Given the description of an element on the screen output the (x, y) to click on. 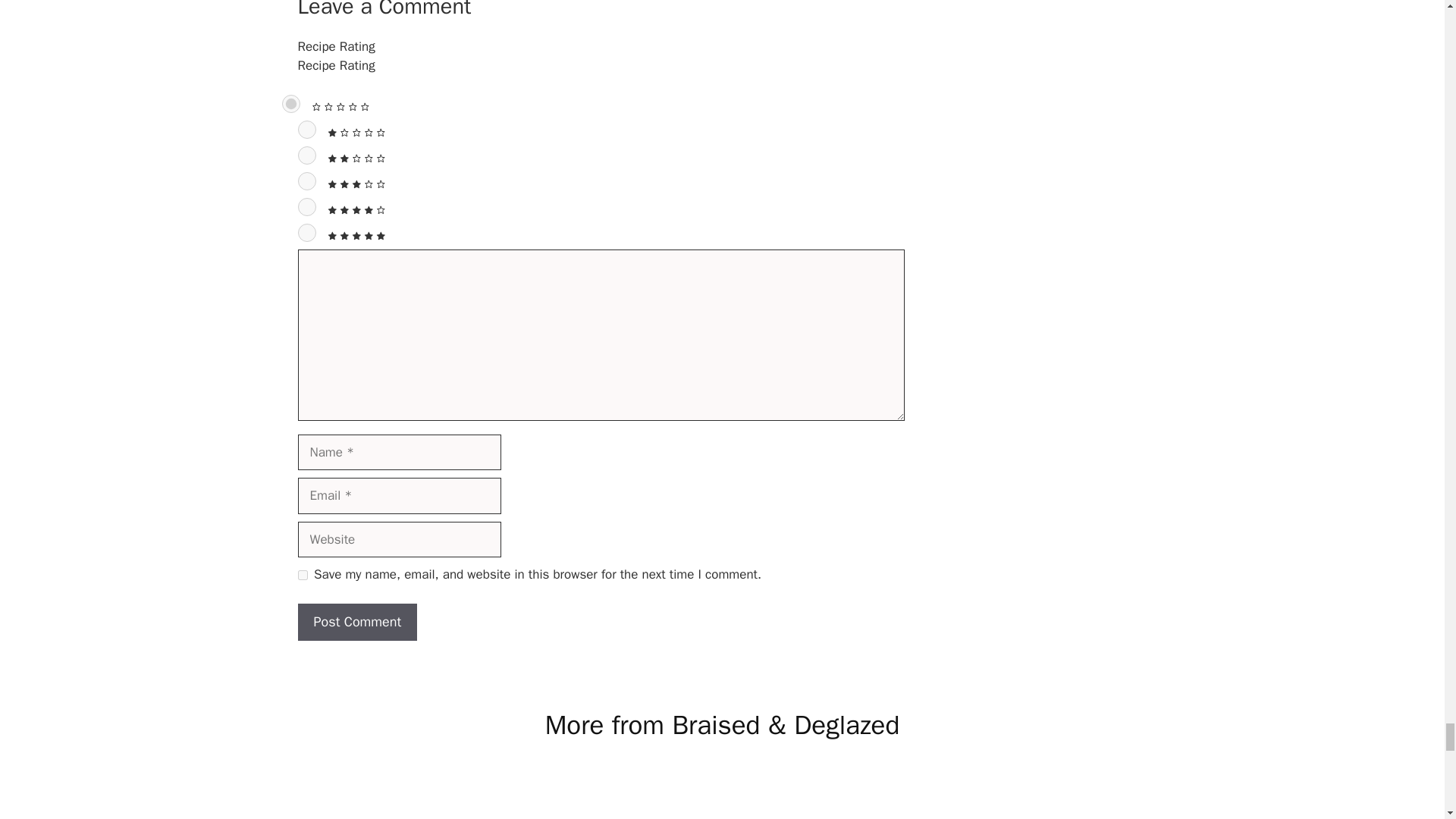
Post Comment (356, 621)
5 (306, 232)
2 (306, 155)
0 (290, 104)
3 (306, 180)
1 (306, 129)
yes (302, 574)
4 (306, 207)
